Given the description of an element on the screen output the (x, y) to click on. 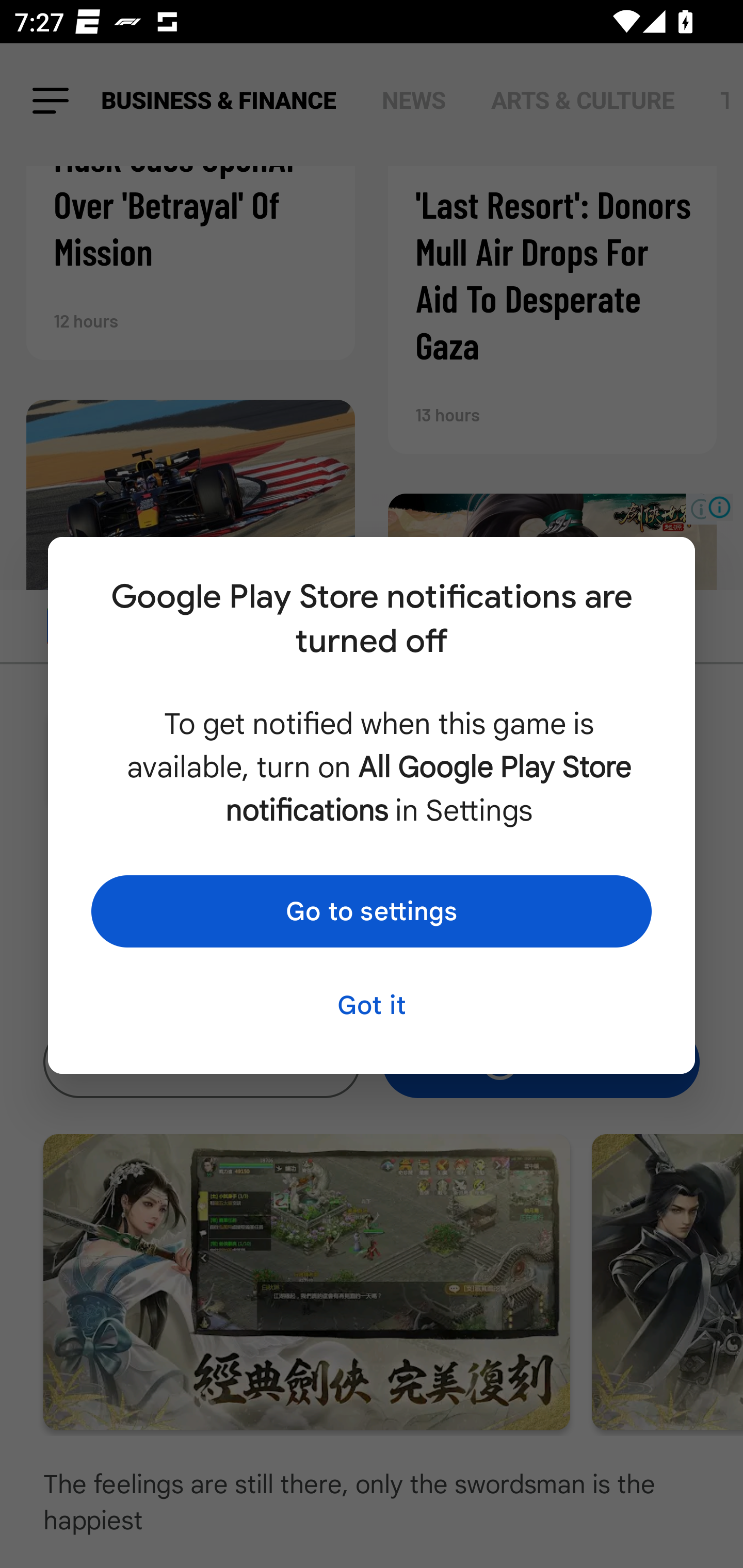
Go to settings (371, 910)
Got it (371, 1005)
